Given the description of an element on the screen output the (x, y) to click on. 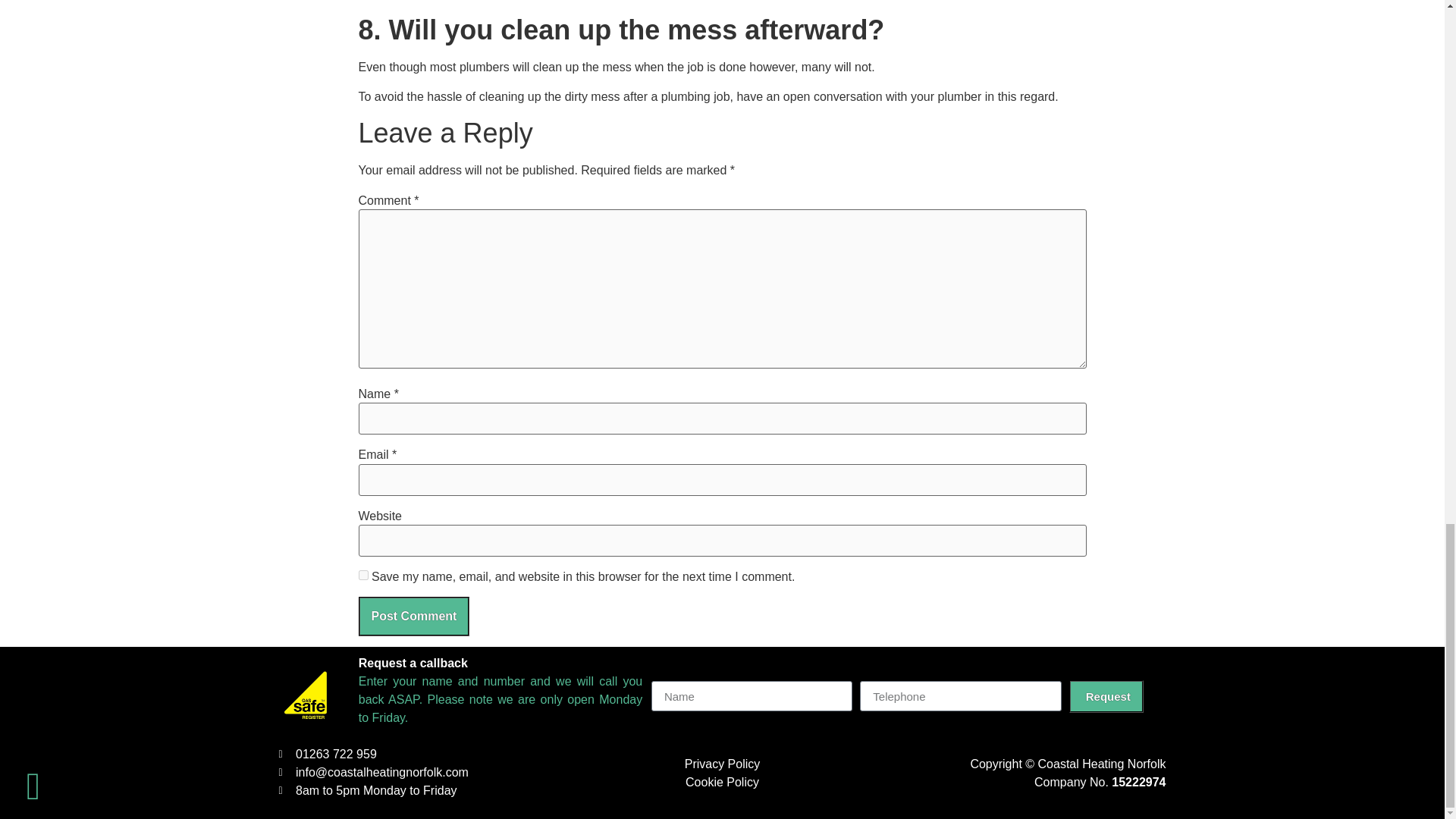
yes (363, 574)
Cookie Policy (721, 781)
Privacy Policy (722, 763)
Post Comment (413, 616)
Post Comment (413, 616)
Request (1105, 696)
01263 722 959 (411, 754)
